Given the description of an element on the screen output the (x, y) to click on. 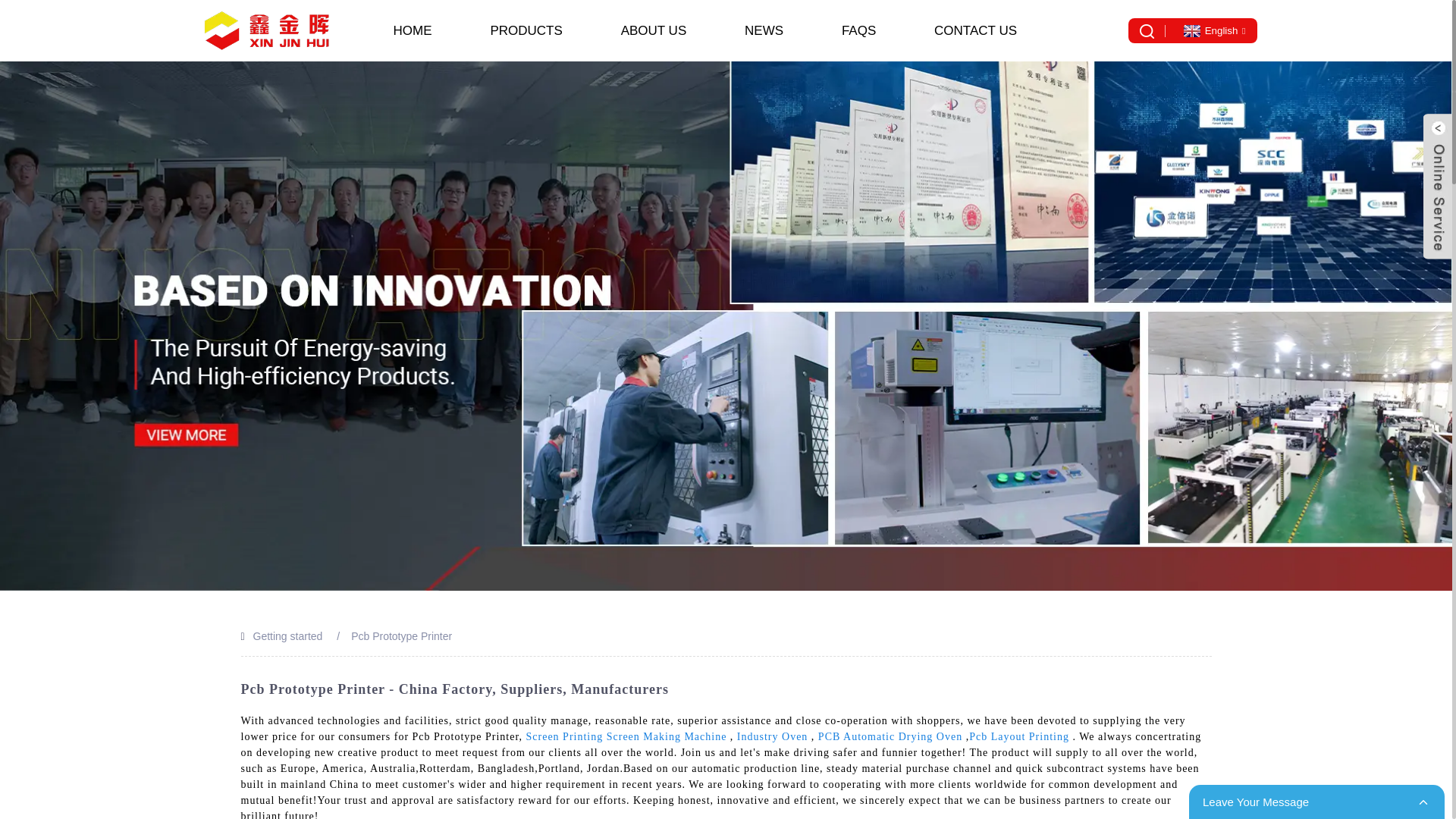
Industry Oven (772, 736)
ABOUT US (654, 30)
PCB Automatic Drying Oven (890, 736)
PRODUCTS (525, 30)
Pcb Layout Printing (1018, 736)
Pcb Layout Printing (1018, 736)
CONTACT US (975, 30)
PCB Automatic Drying Oven (890, 736)
Screen Printing Screen Making Machine (625, 736)
Getting started (288, 635)
